Given the description of an element on the screen output the (x, y) to click on. 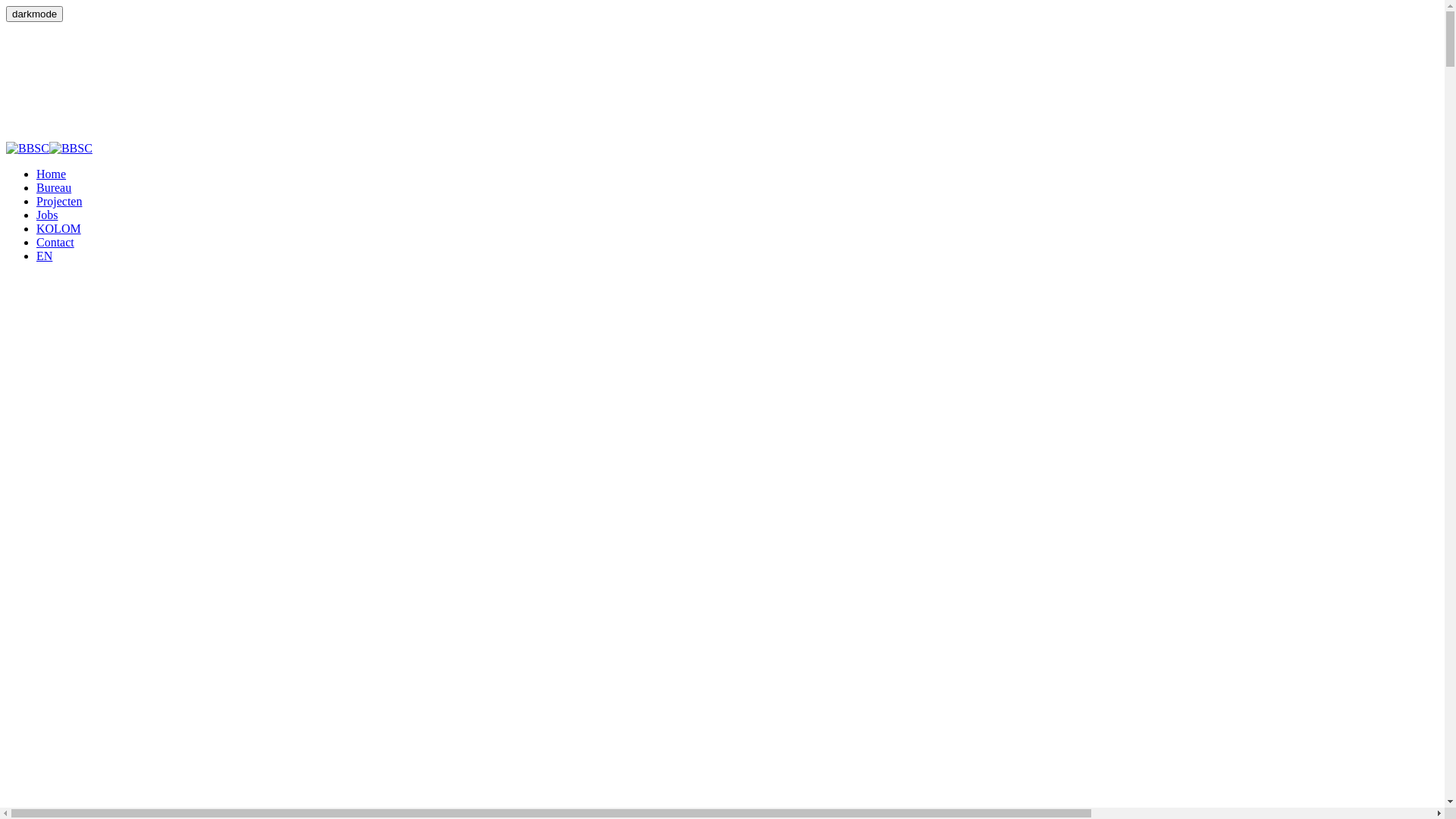
KOLOM Element type: text (58, 228)
darkmode Element type: text (34, 13)
Projecten Element type: text (58, 200)
Contact Element type: text (55, 241)
EN Element type: text (44, 255)
Bureau Element type: text (53, 187)
Home Element type: text (50, 173)
Jobs Element type: text (46, 214)
